Given the description of an element on the screen output the (x, y) to click on. 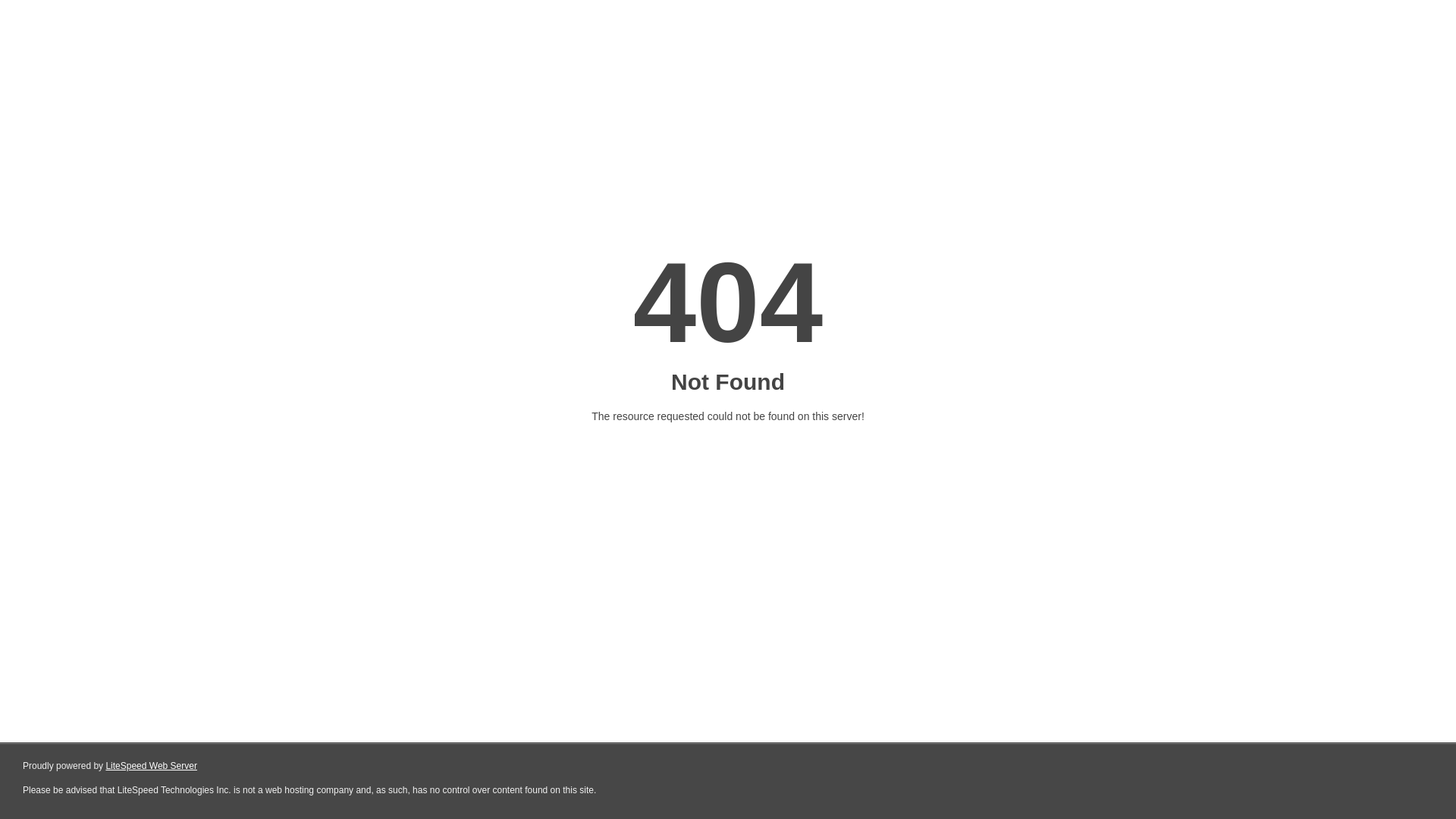
LiteSpeed Web Server Element type: text (151, 765)
